Given the description of an element on the screen output the (x, y) to click on. 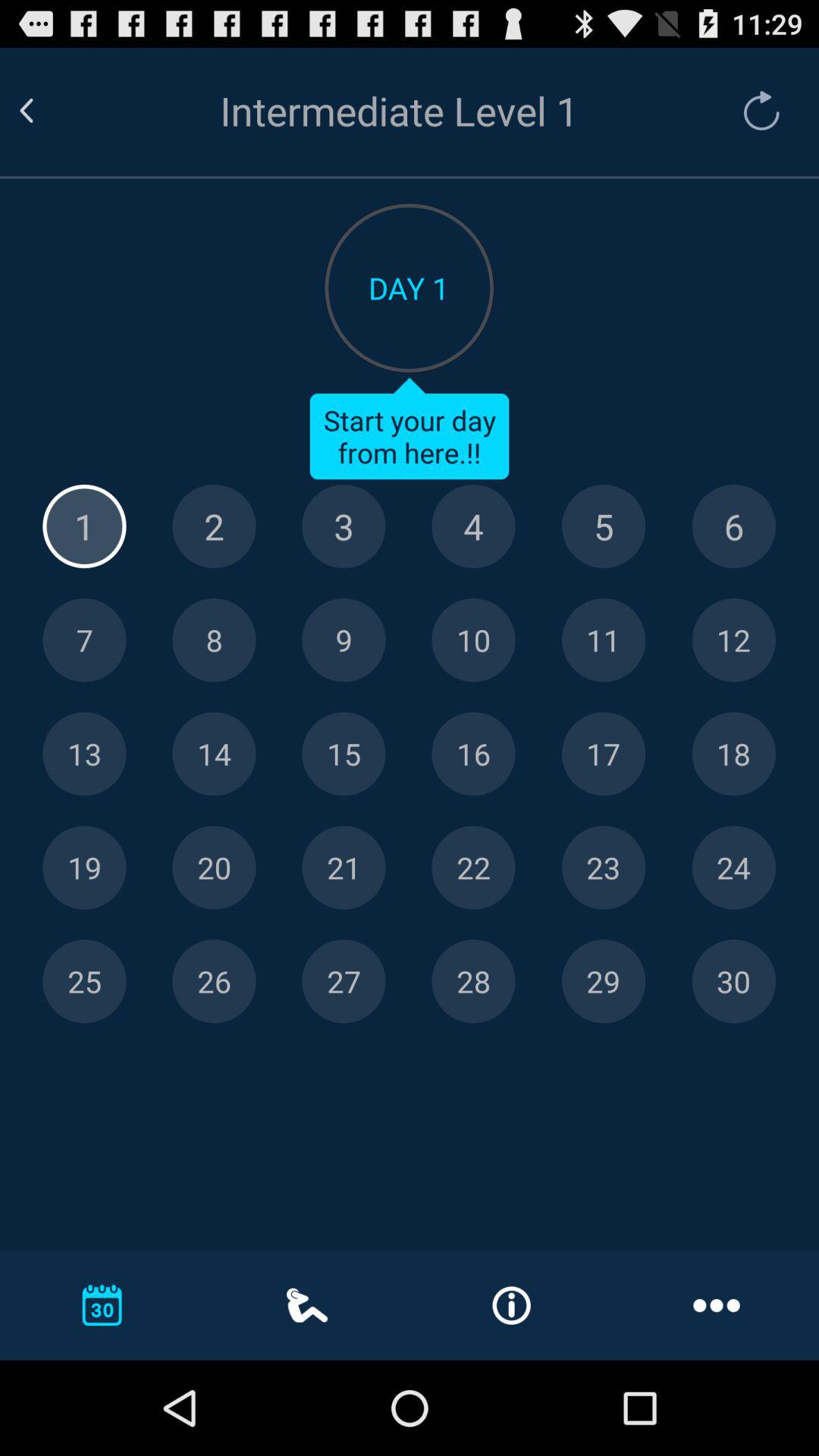
press number 2 icon (213, 526)
